Given the description of an element on the screen output the (x, y) to click on. 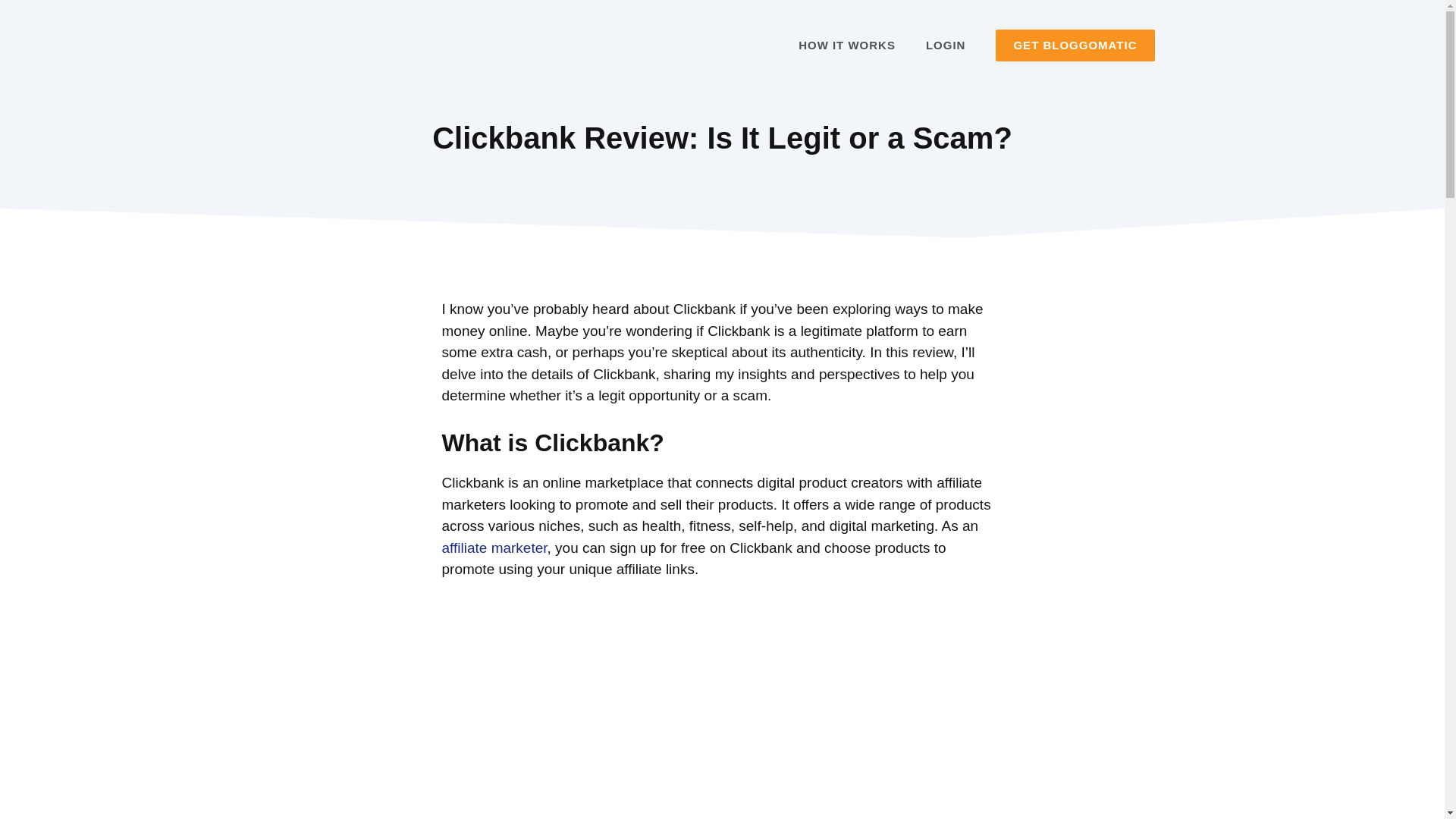
GET BLOGGOMATIC (1074, 45)
HOW IT WORKS (847, 44)
affiliate marketer (494, 547)
LOGIN (946, 44)
